Given the description of an element on the screen output the (x, y) to click on. 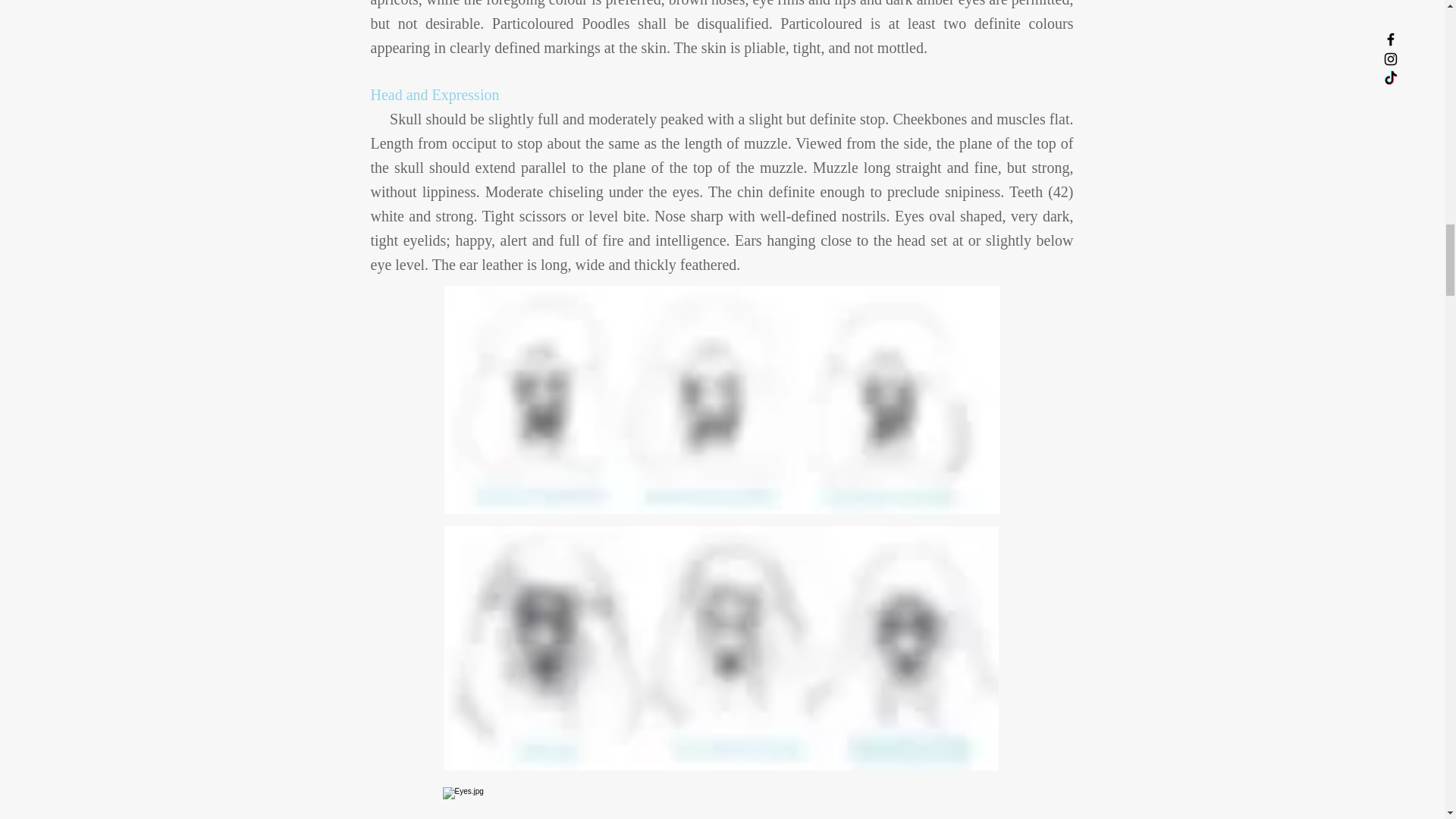
Head.jpg (722, 399)
